Given the description of an element on the screen output the (x, y) to click on. 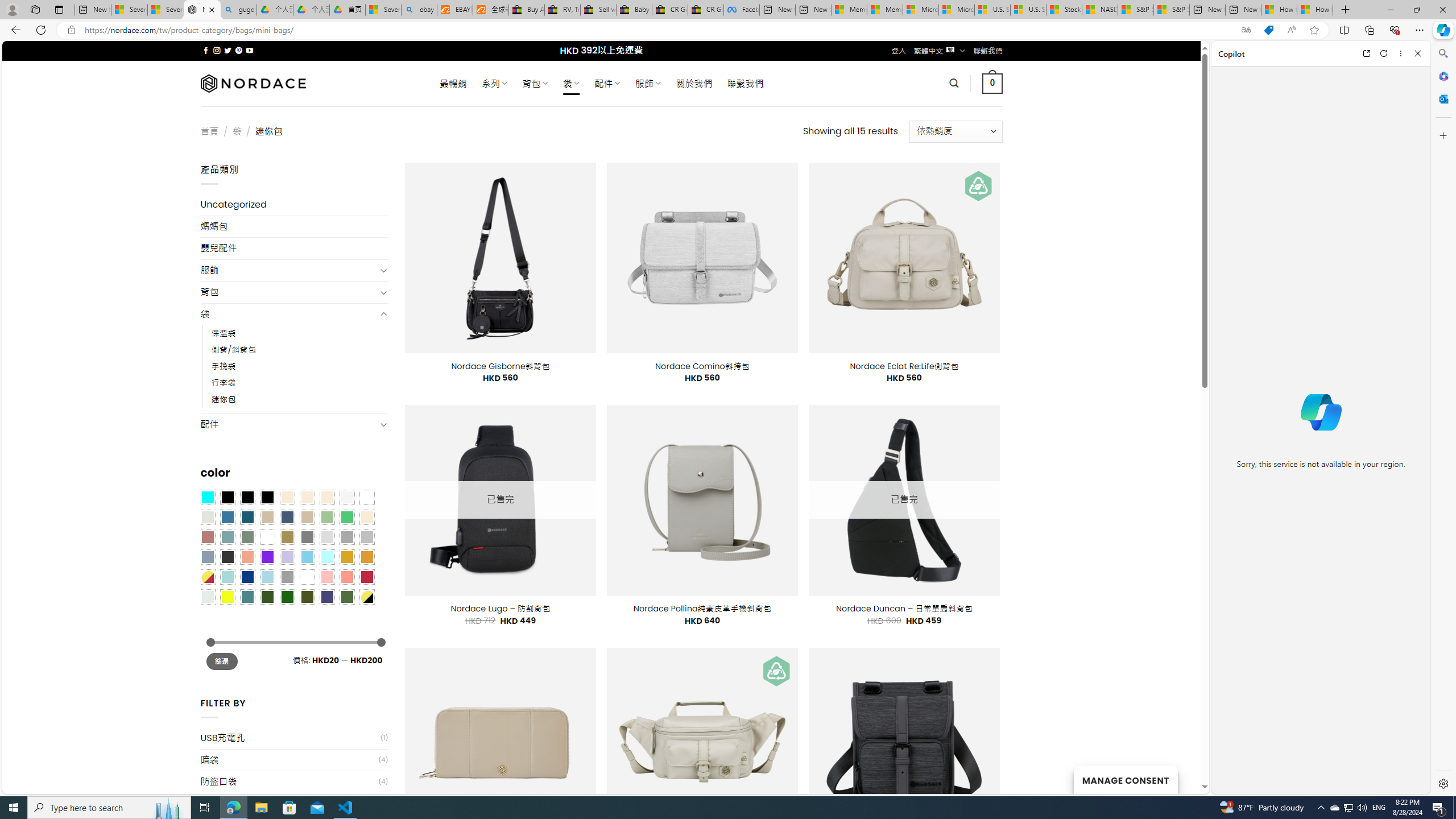
How to Use a Monitor With Your Closed Laptop (1315, 9)
Cream (327, 497)
Baby Keepsakes & Announcements for sale | eBay (633, 9)
Read aloud this page (Ctrl+Shift+U) (1291, 29)
Follow on Pinterest (237, 50)
Minimize (1390, 9)
